Given the description of an element on the screen output the (x, y) to click on. 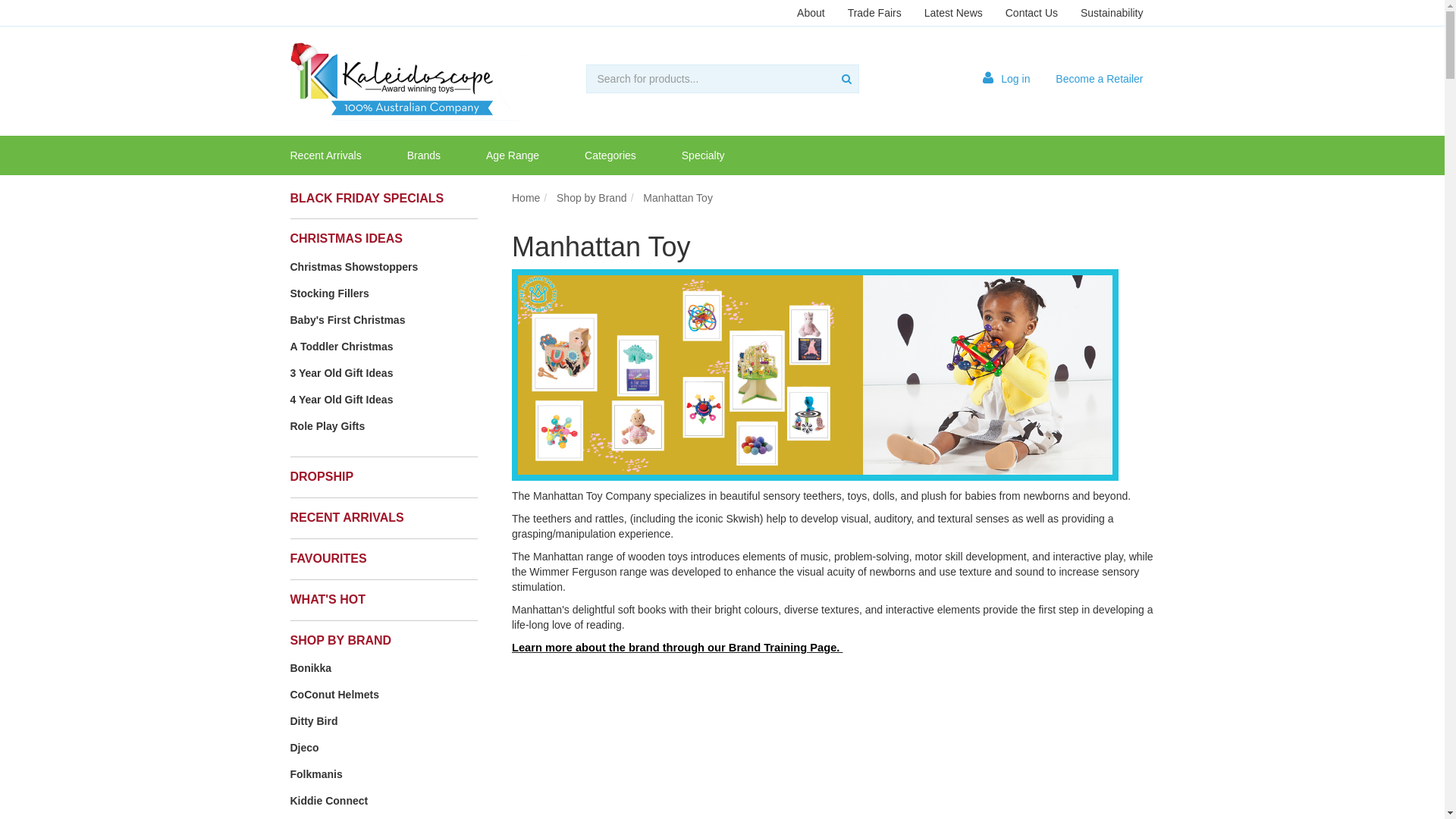
Trade Fairs Element type: text (874, 12)
About Element type: text (810, 12)
Latest News Element type: text (953, 12)
Log in Element type: text (1006, 78)
Shop by Brand Element type: text (591, 197)
Brands Element type: text (423, 155)
Folkmanis Element type: text (383, 773)
Learn more about the brand through our Brand Training Page.  Element type: text (676, 647)
Recent Arrivals Element type: text (326, 155)
3 Year Old Gift Ideas Element type: text (383, 372)
Age Range Element type: text (512, 155)
Ditty Bird Element type: text (383, 720)
Role Play Gifts Element type: text (383, 425)
Stocking Fillers Element type: text (383, 293)
SHOP BY BRAND Element type: text (340, 640)
BLACK FRIDAY SPECIALS Element type: text (366, 197)
DROPSHIP Element type: text (321, 476)
FAVOURITES Element type: text (327, 558)
Christmas Showstoppers Element type: text (383, 266)
Baby's First Christmas Element type: text (383, 319)
Become a Retailer Element type: text (1099, 78)
RECENT ARRIVALS Element type: text (346, 517)
4 Year Old Gift Ideas Element type: text (383, 399)
CHRISTMAS IDEAS Element type: text (345, 238)
Specialty Element type: text (703, 155)
Categories Element type: text (610, 155)
Contact Us Element type: text (1031, 12)
WHAT'S HOT Element type: text (327, 599)
A Toddler Christmas Element type: text (383, 346)
Manhattan Toy Element type: text (677, 197)
Sustainability Element type: text (1111, 12)
Kiddie Connect Element type: text (383, 800)
Bonikka Element type: text (383, 667)
Djeco Element type: text (383, 747)
CoConut Helmets Element type: text (383, 694)
Home Element type: text (525, 197)
Kaleidoscope Australasia Pty Ltd Element type: hover (463, 79)
Search Element type: text (846, 78)
